Given the description of an element on the screen output the (x, y) to click on. 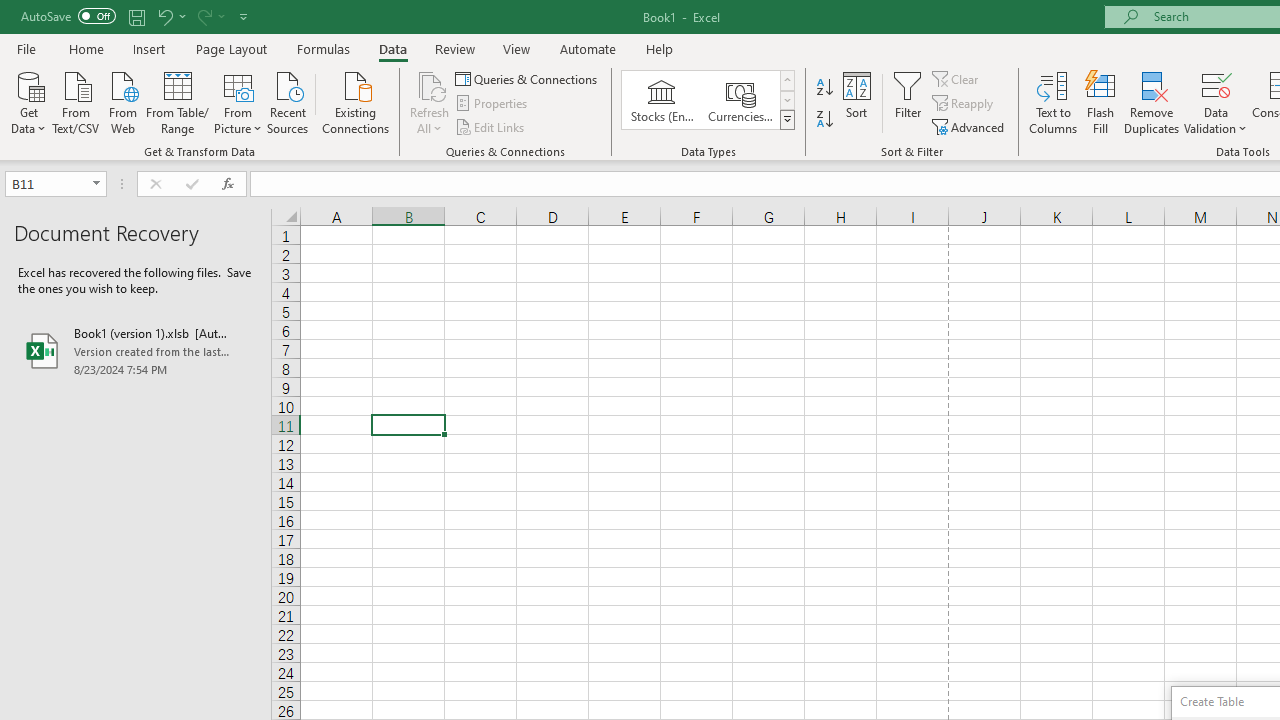
AutomationID: ConvertToLinkedEntity (708, 99)
Text to Columns... (1053, 102)
From Table/Range (177, 101)
Data Types (786, 120)
From Web (122, 101)
Flash Fill (1101, 102)
Advanced... (970, 126)
